Given the description of an element on the screen output the (x, y) to click on. 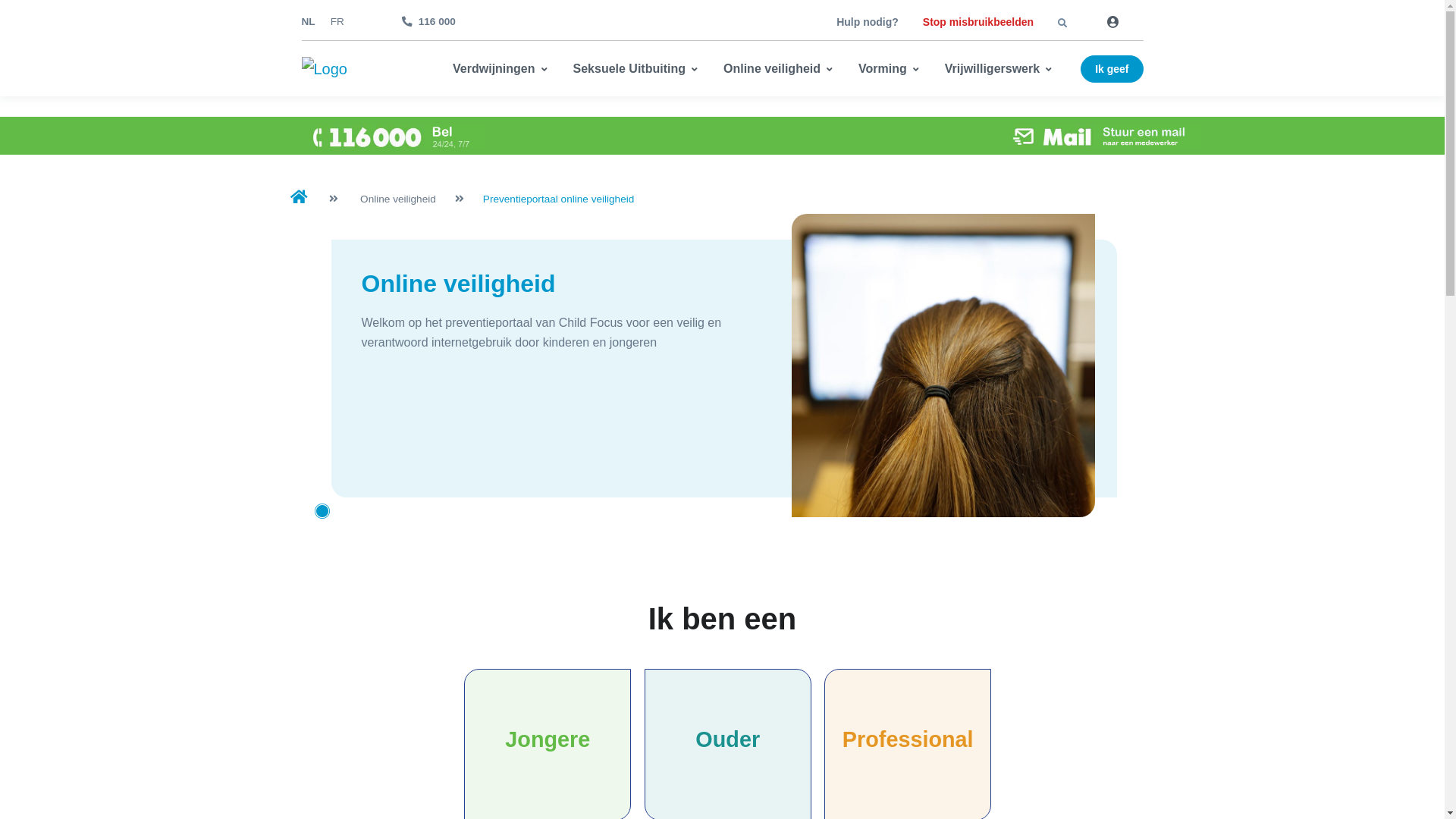
Preventieportaal online veiligheid Element type: text (558, 198)
Online veiligheid Element type: text (781, 68)
FR Element type: text (337, 21)
Stop misbruikbeelden Element type: text (977, 21)
Vorming Element type: text (892, 68)
Ik geef Element type: text (1111, 68)
Hulp nodig? Element type: text (867, 21)
Vrijwilligerswerk Element type: text (1001, 68)
116 000 Element type: text (428, 21)
Seksuele Uitbuiting Element type: text (639, 68)
Verdwijningen Element type: text (507, 68)
